Given the description of an element on the screen output the (x, y) to click on. 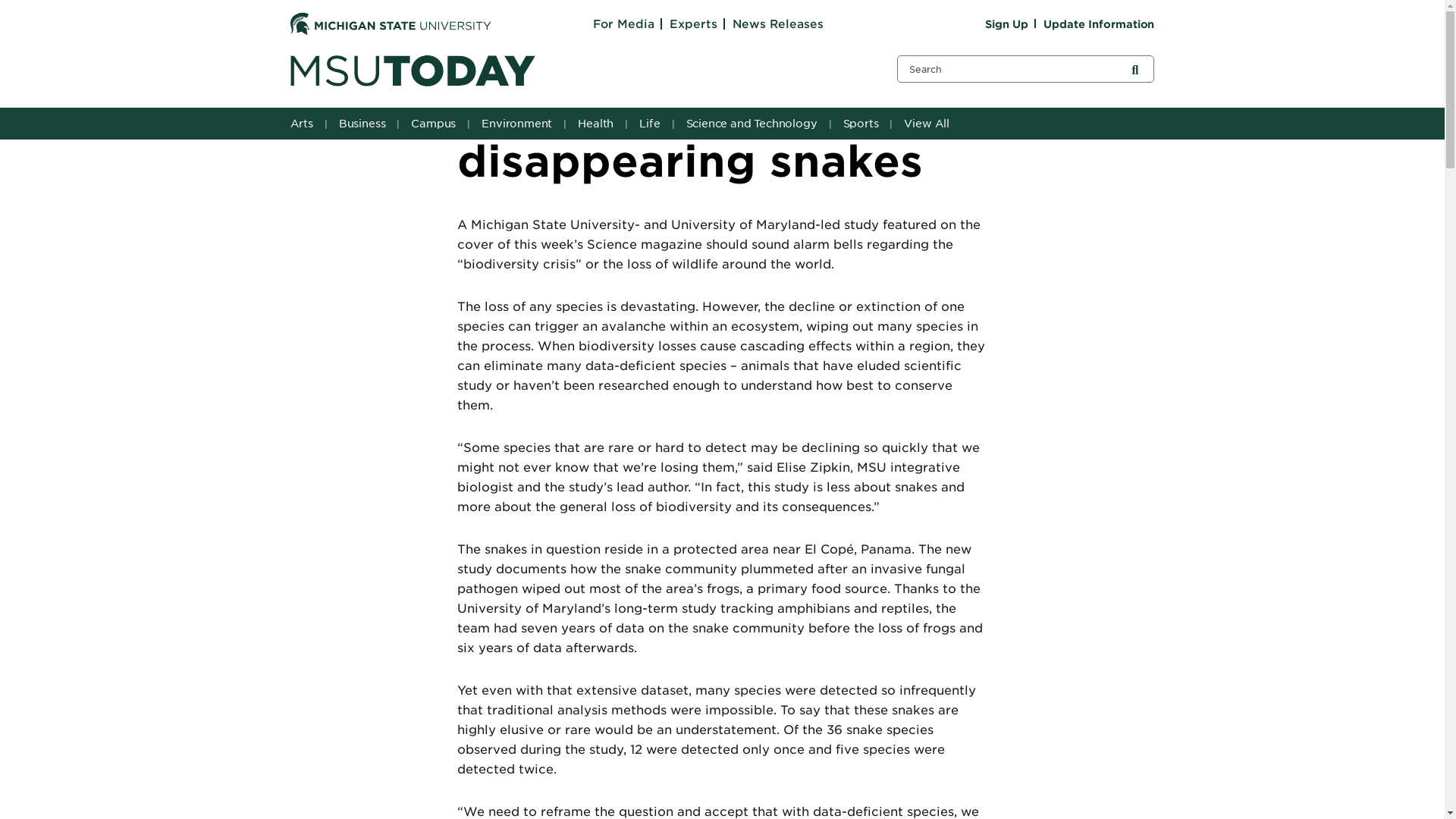
Environment (518, 123)
MSUTODAY (411, 70)
Michigan State University (389, 23)
Life (650, 123)
Business (363, 123)
Update Information (1098, 24)
MSUTODAY (574, 70)
News Releases (778, 24)
Campus (435, 123)
Sign Up (1006, 24)
